Given the description of an element on the screen output the (x, y) to click on. 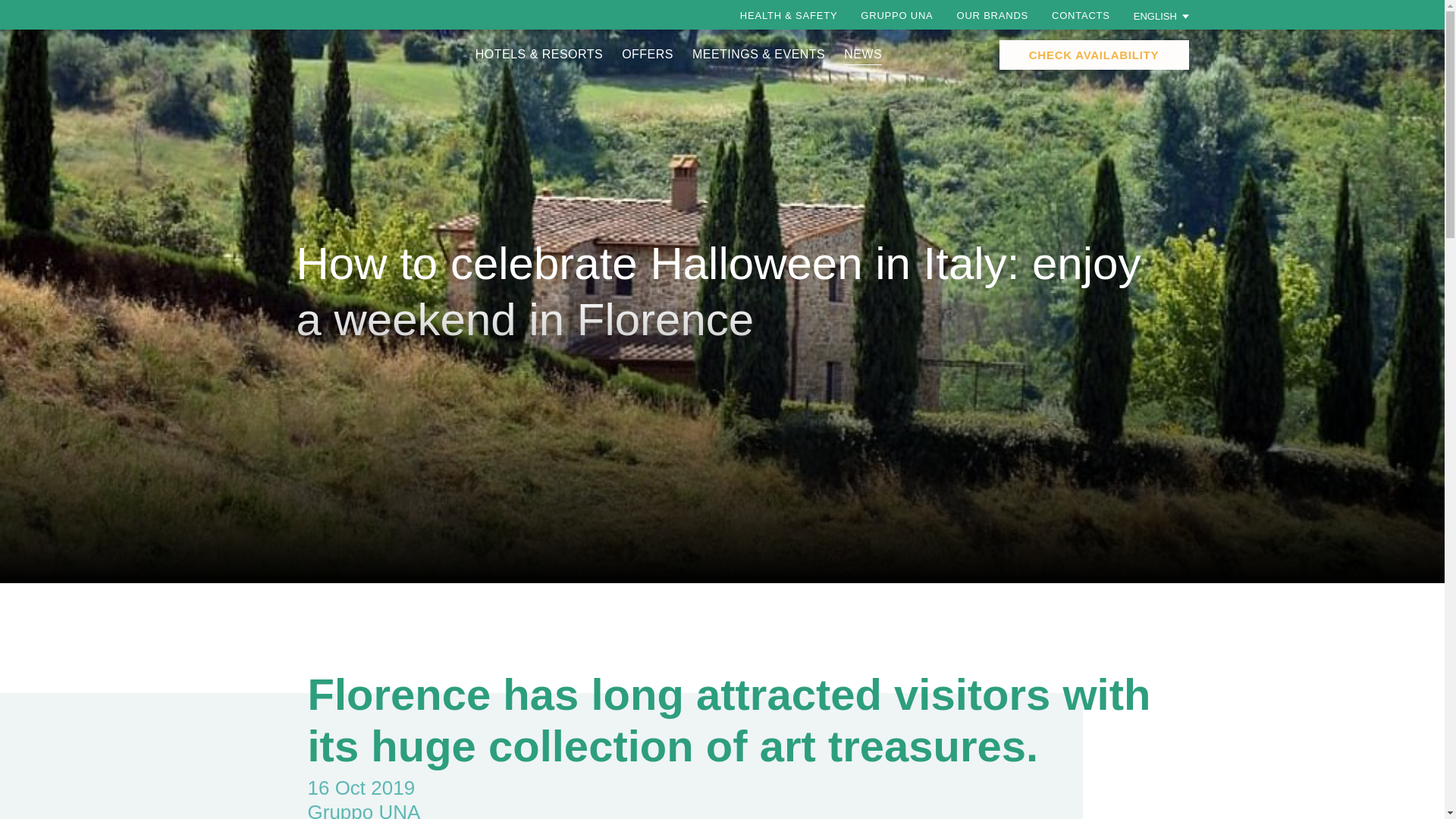
OUR BRANDS (991, 15)
CONTACTS (1080, 15)
CHECK AVAILABILITY (1093, 54)
NEWS (863, 53)
ENGLISH (1161, 15)
OFFERS (646, 53)
GRUPPO UNA (896, 15)
